Given the description of an element on the screen output the (x, y) to click on. 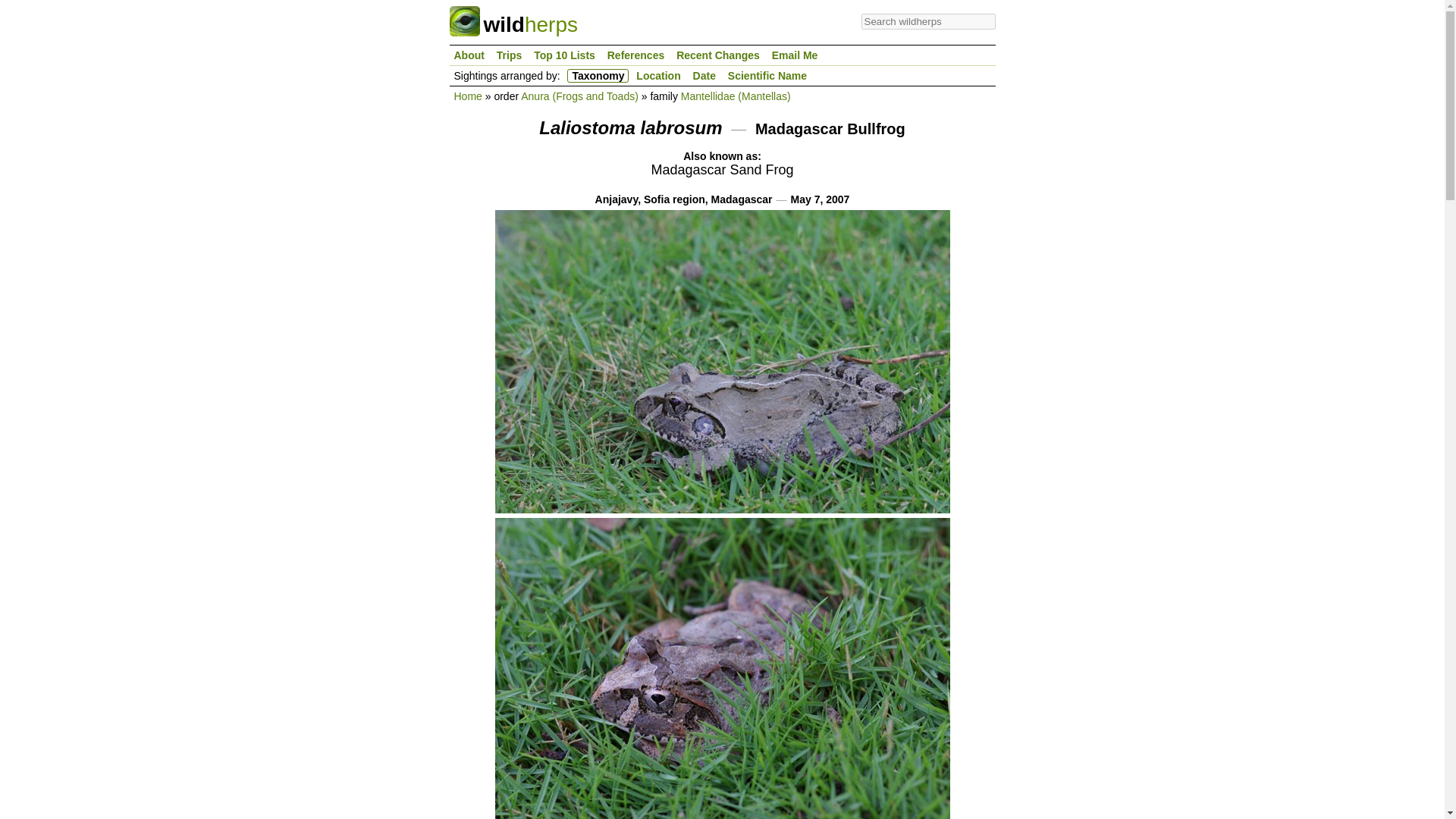
Home (466, 96)
About (467, 55)
Trips (508, 55)
wildherps (513, 24)
Email Me (794, 55)
Recent Changes (717, 55)
Date (704, 75)
Scientific Name (766, 75)
Location (657, 75)
Top 10 Lists (564, 55)
References (635, 55)
